Given the description of an element on the screen output the (x, y) to click on. 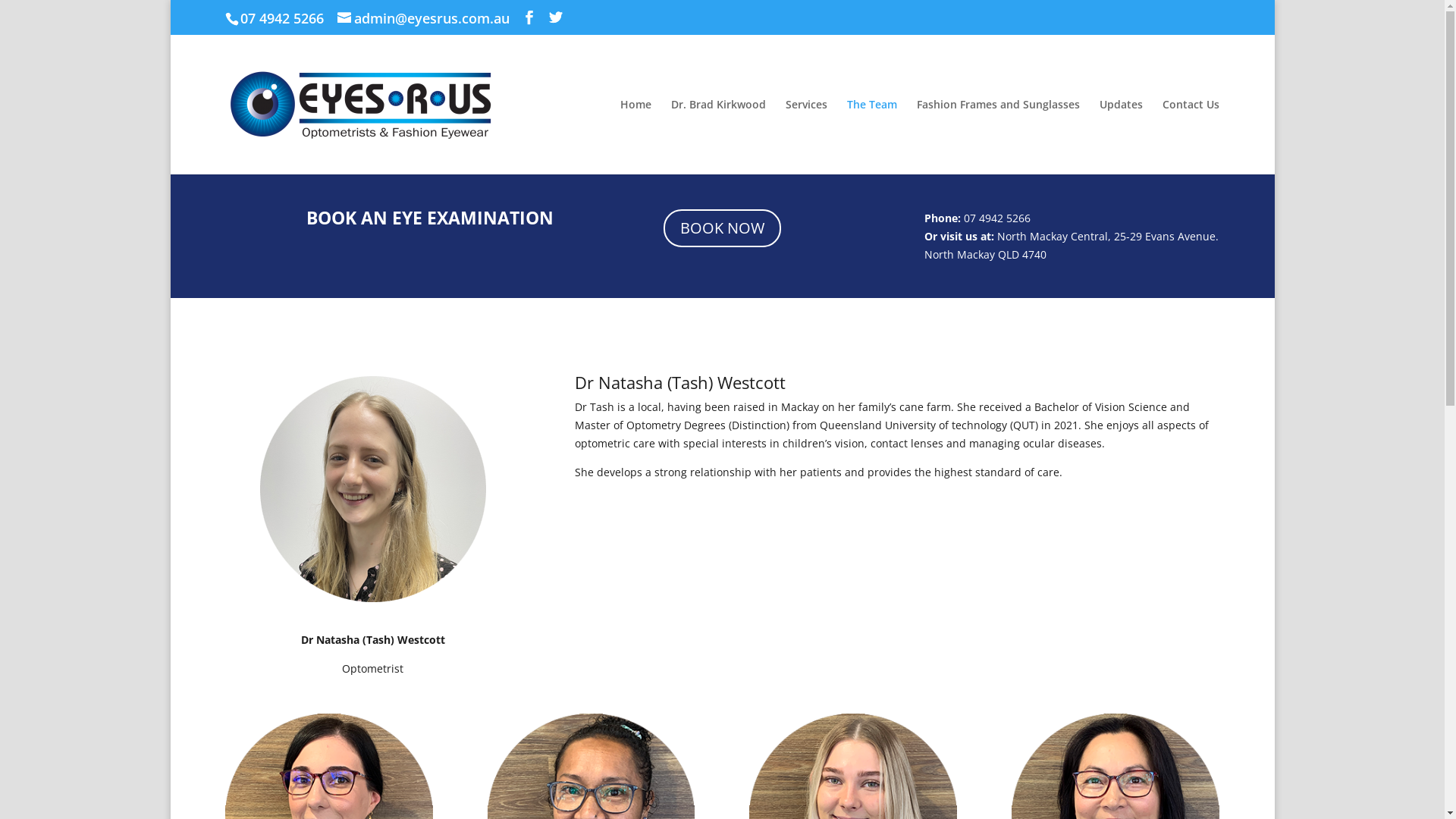
admin@eyesrus.com.au Element type: text (423, 18)
The Team Element type: text (872, 136)
BOOK NOW Element type: text (722, 228)
Updates Element type: text (1120, 136)
Home Element type: text (635, 136)
Fashion Frames and Sunglasses Element type: text (997, 136)
Services Element type: text (806, 136)
Dr-Natasha-Westcott Element type: hover (372, 489)
Dr. Brad Kirkwood Element type: text (718, 136)
Contact Us Element type: text (1190, 136)
